Given the description of an element on the screen output the (x, y) to click on. 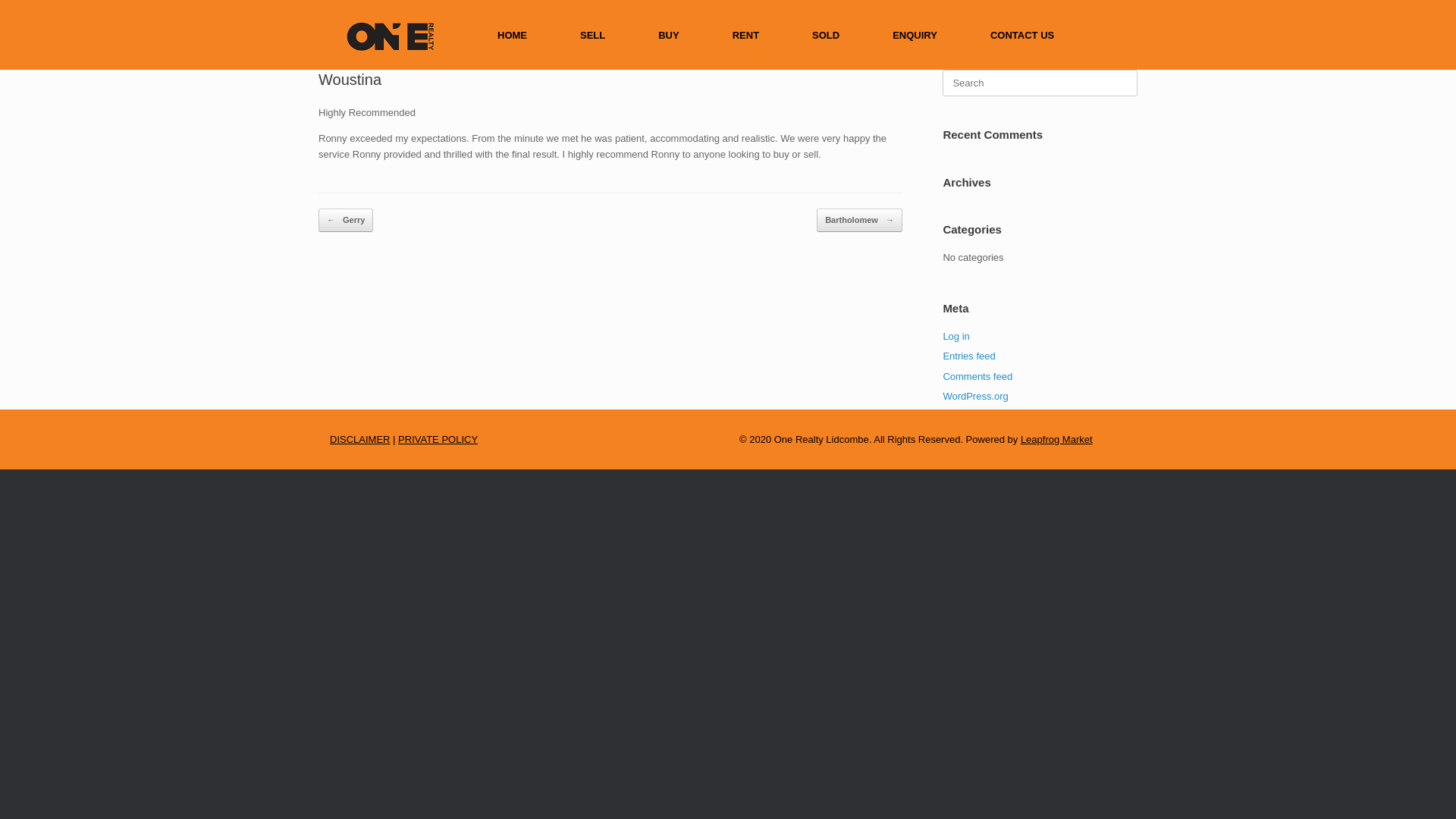
BUY Element type: text (668, 35)
HOME Element type: text (511, 35)
SOLD Element type: text (825, 35)
Log in Element type: text (955, 336)
Leapfrog Market Element type: text (1056, 439)
WordPress.org Element type: text (974, 395)
PRIVATE POLICY Element type: text (437, 439)
RENT Element type: text (745, 35)
Comments feed Element type: text (977, 375)
Skip to content Element type: text (0, 0)
Entries feed Element type: text (968, 355)
ENQUIRY Element type: text (914, 35)
CONTACT US Element type: text (1021, 35)
SELL Element type: text (592, 35)
One Realty Element type: hover (388, 34)
DISCLAIMER Element type: text (359, 439)
